Given the description of an element on the screen output the (x, y) to click on. 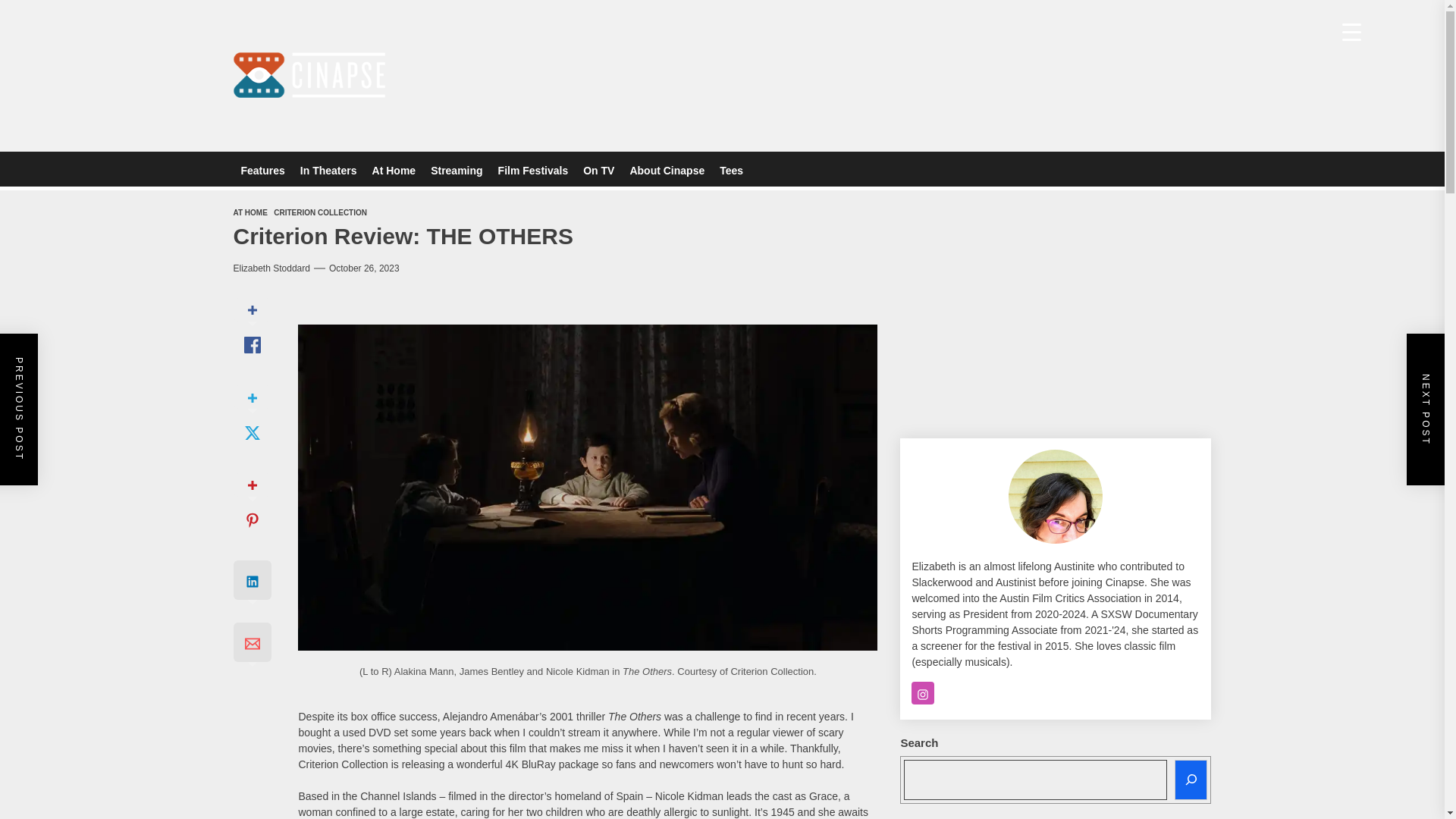
At Home (394, 170)
Features (262, 170)
In Theaters (328, 170)
